Given the description of an element on the screen output the (x, y) to click on. 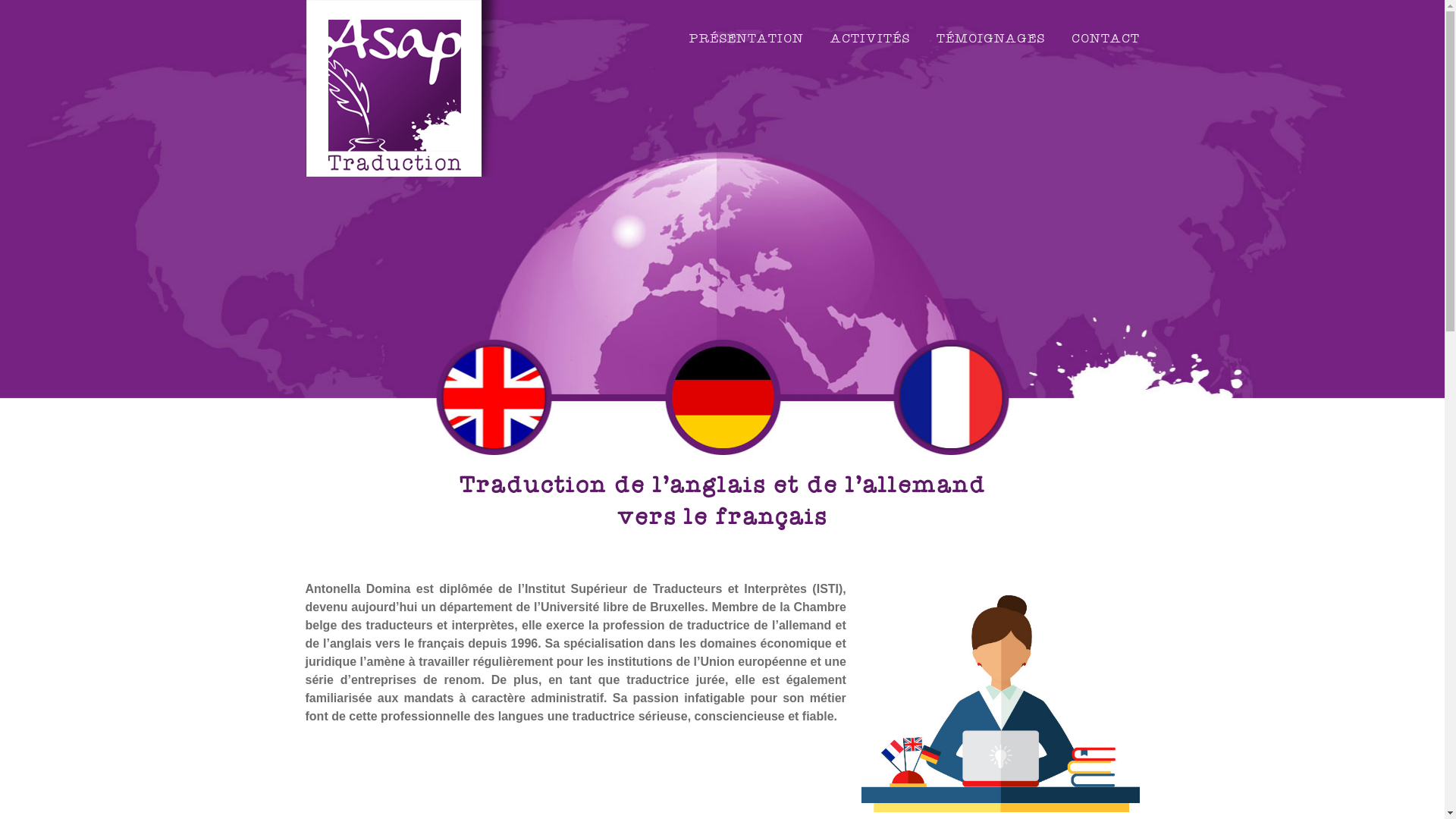
CONTACT Element type: text (1104, 39)
